Given the description of an element on the screen output the (x, y) to click on. 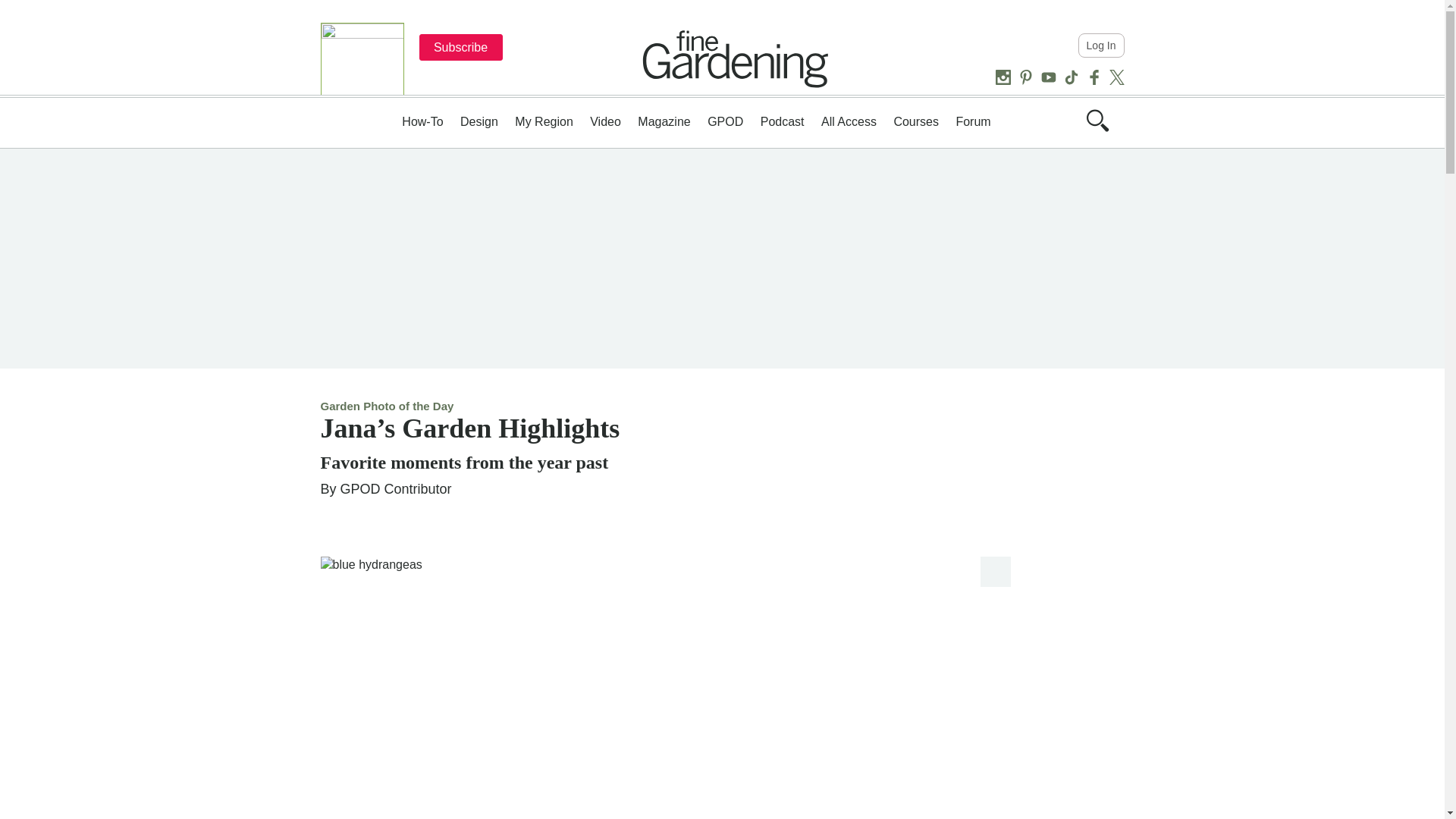
Pinterest (1024, 77)
Facebook (1093, 77)
Twitter (1116, 77)
All Access (848, 121)
My Region (543, 121)
How-To (421, 121)
Instragram (1002, 77)
Design (478, 121)
Magazine (663, 121)
GPOD (724, 121)
YouTube (1048, 77)
GPOD Contributor (395, 488)
TikTok (1070, 77)
Garden Photo of the Day (386, 405)
Forum (972, 121)
